Given the description of an element on the screen output the (x, y) to click on. 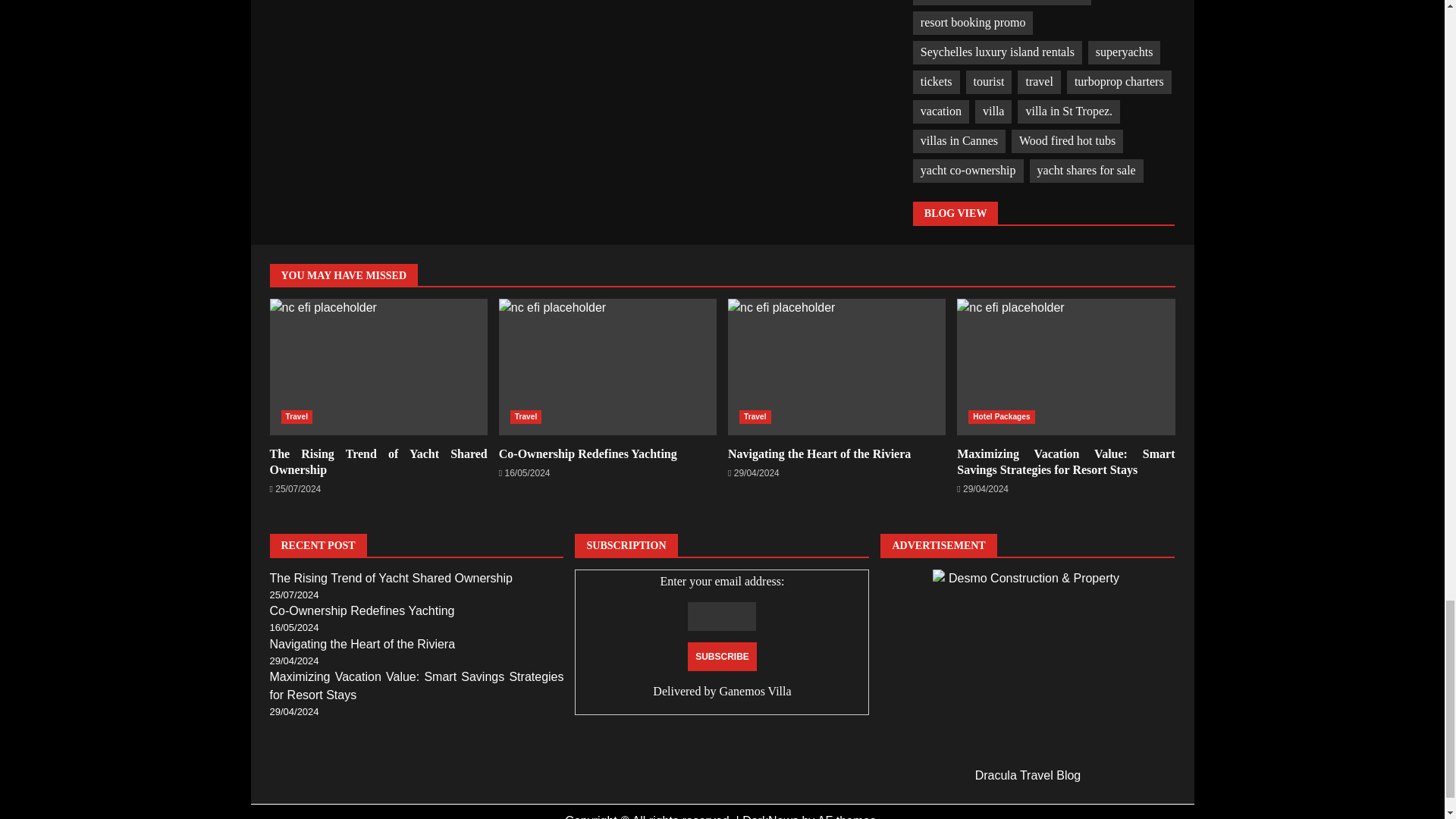
Subscribe (722, 656)
The Rising Trend of Yacht Shared Ownership (378, 366)
Co-Ownership Redefines Yachting (607, 366)
